Given the description of an element on the screen output the (x, y) to click on. 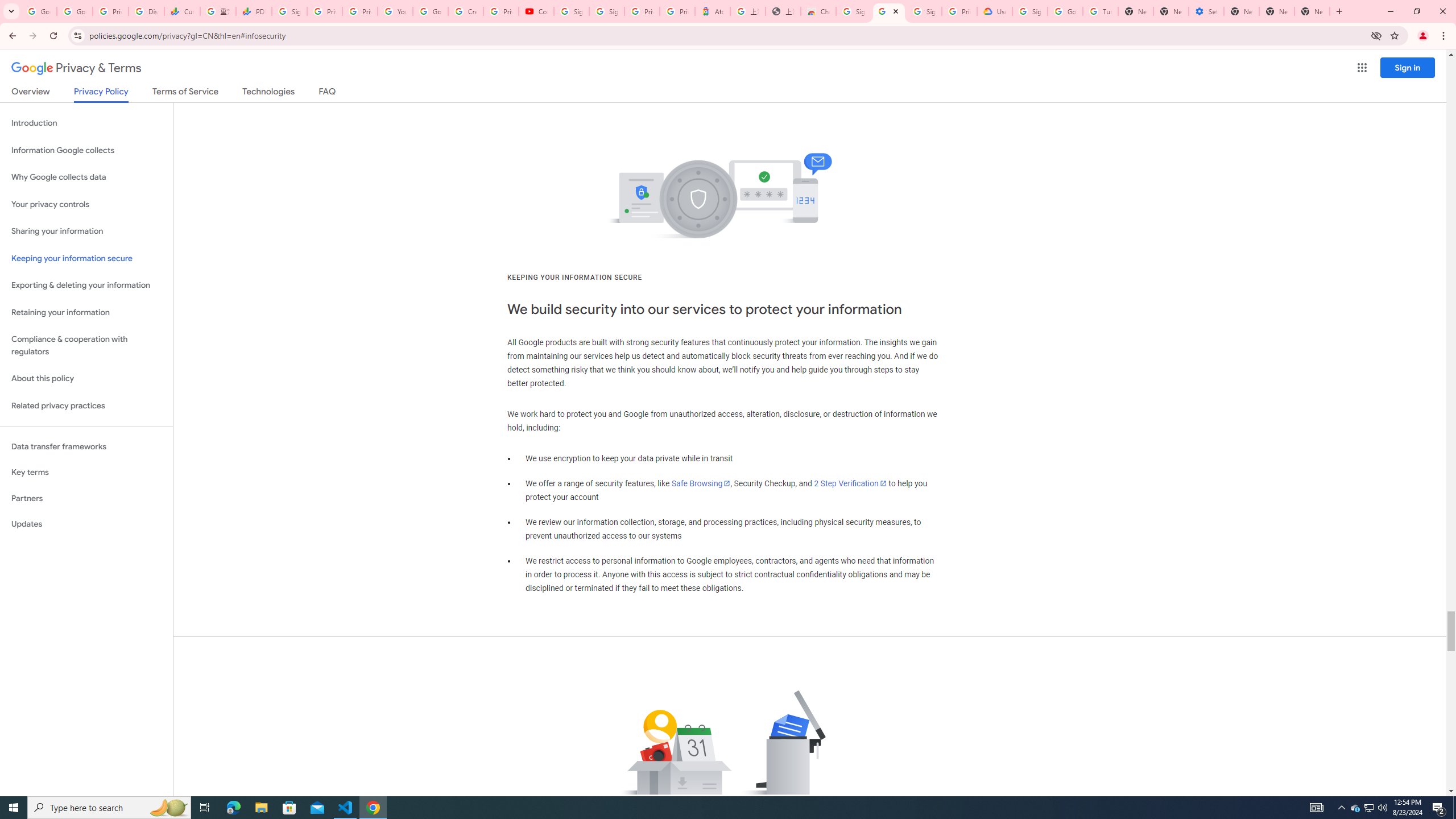
PDD Holdings Inc - ADR (PDD) Price & News - Google Finance (253, 11)
